Given the description of an element on the screen output the (x, y) to click on. 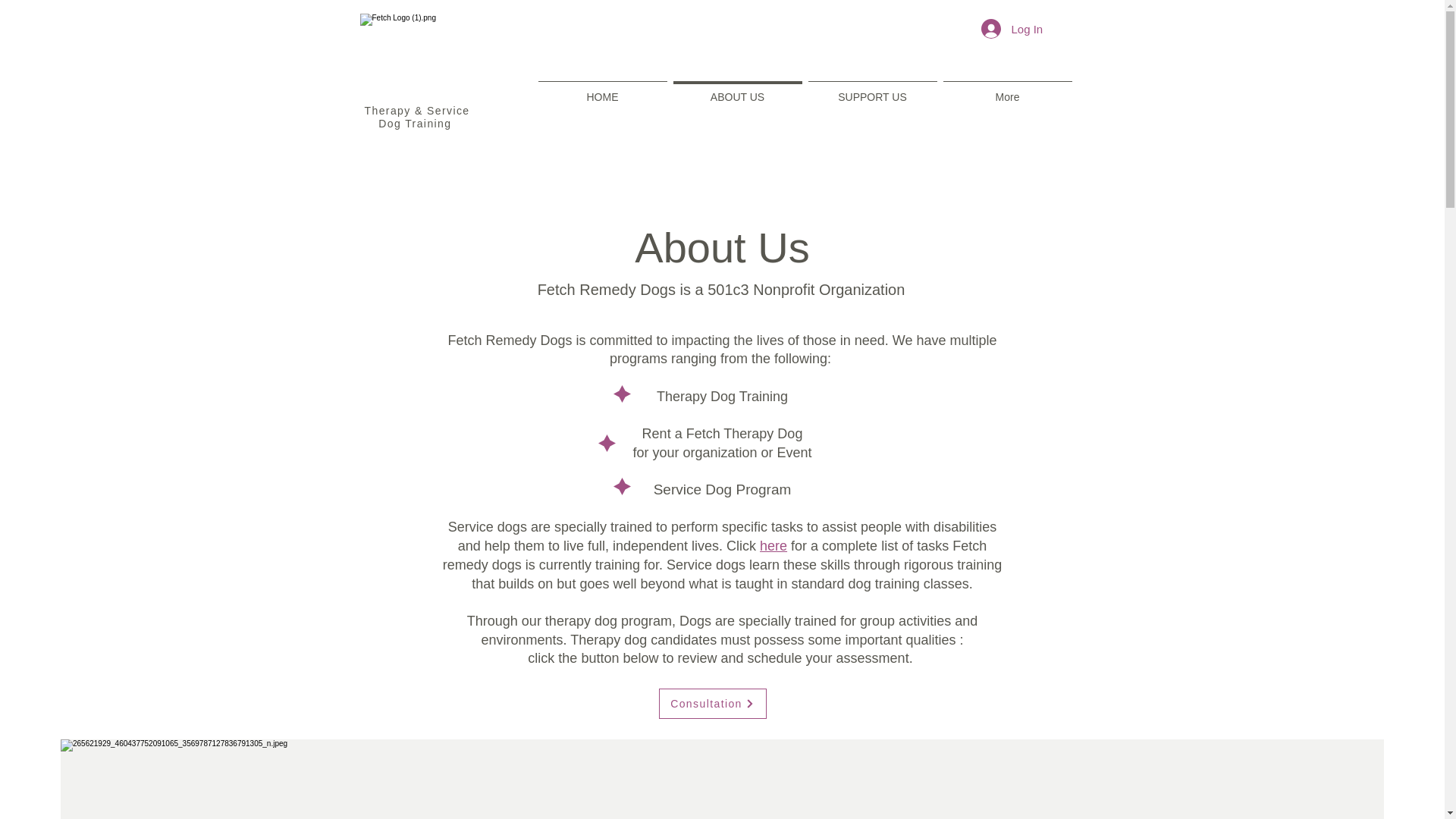
Consultation (711, 703)
HOME (602, 90)
here (773, 545)
ABOUT US (737, 90)
SUPPORT US (872, 90)
Log In (1009, 28)
